Given the description of an element on the screen output the (x, y) to click on. 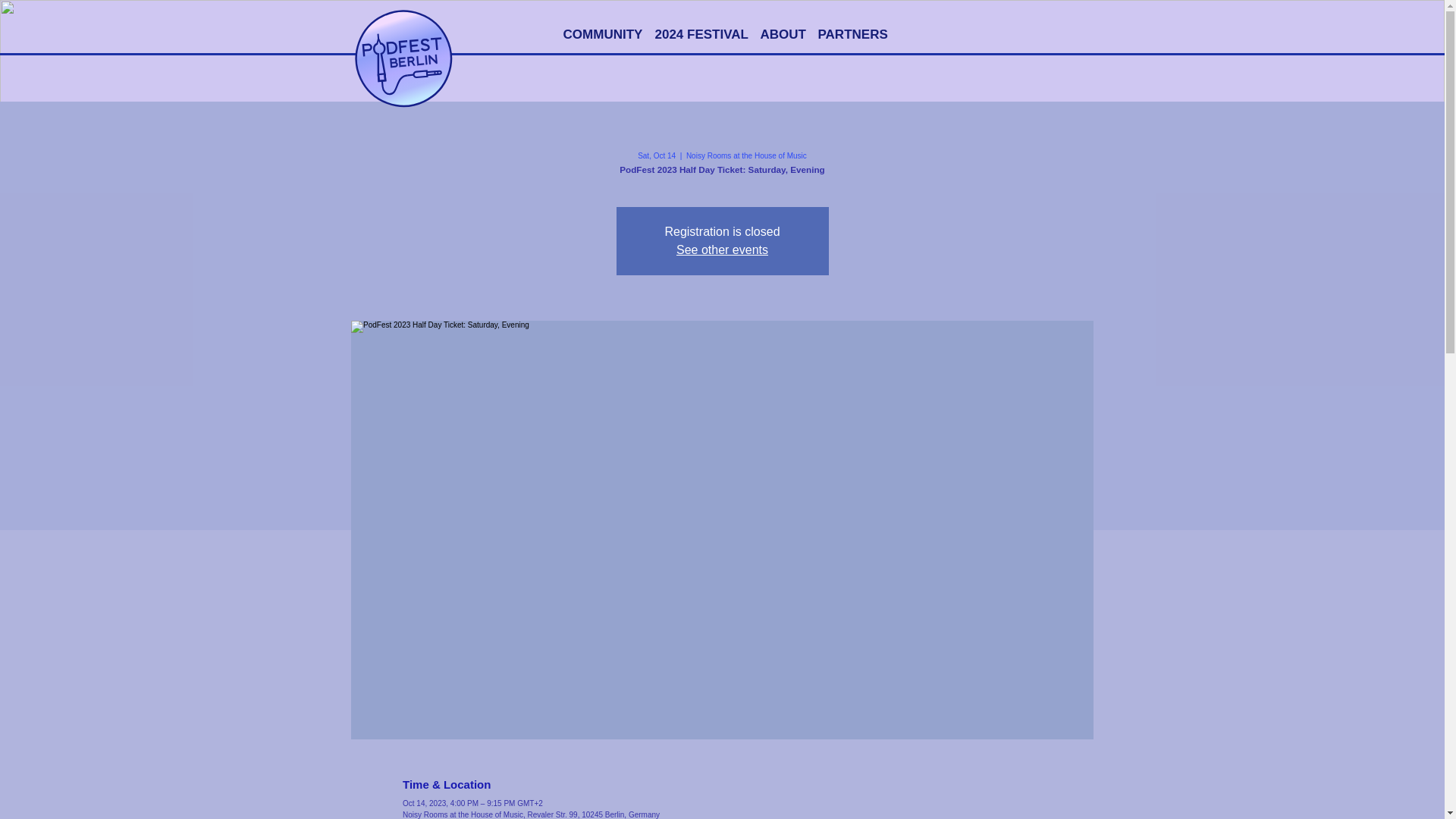
See other events (722, 249)
ABOUT (782, 34)
2024 FESTIVAL (701, 34)
COMMUNITY (602, 34)
PARTNERS (851, 34)
